Given the description of an element on the screen output the (x, y) to click on. 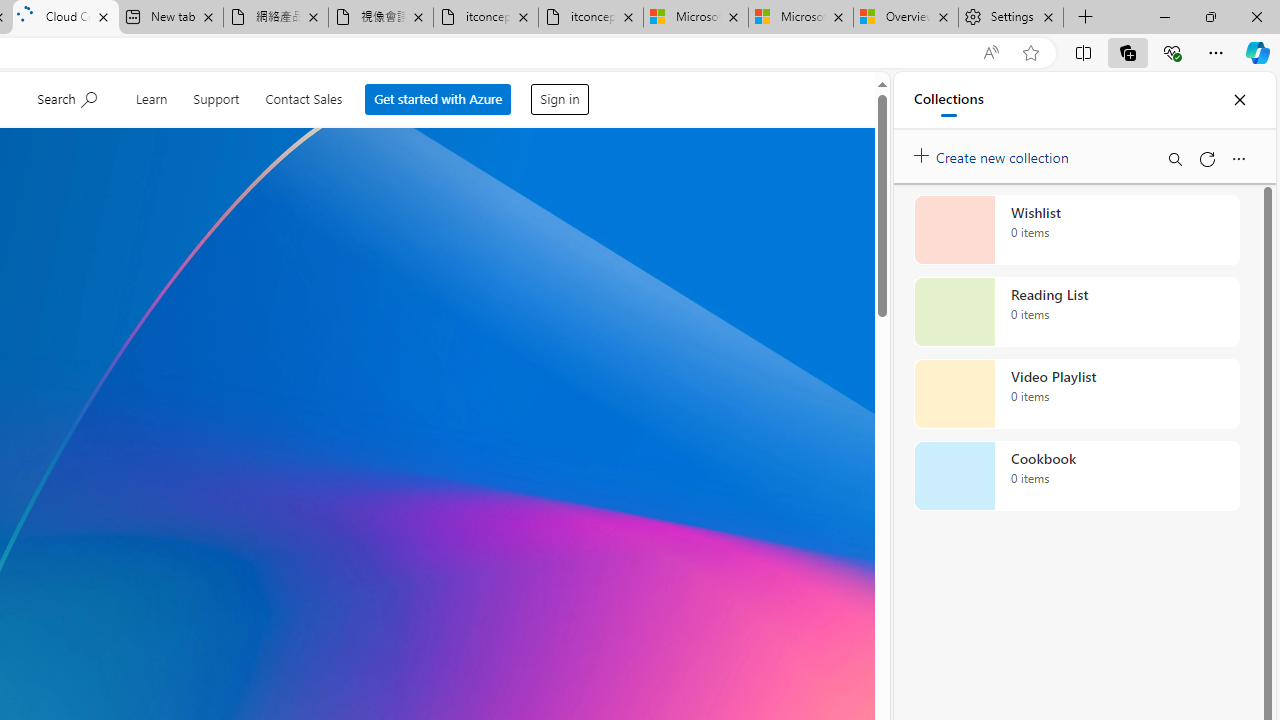
itconcepthk.com/projector_solutions.mp4 (590, 17)
Get started with Azure (441, 99)
Cookbook collection, 0 items (1076, 475)
Contact Sales (306, 96)
Show search input (70, 97)
Overview (905, 17)
Reading List collection, 0 items (1076, 312)
Contact Sales (306, 96)
